Given the description of an element on the screen output the (x, y) to click on. 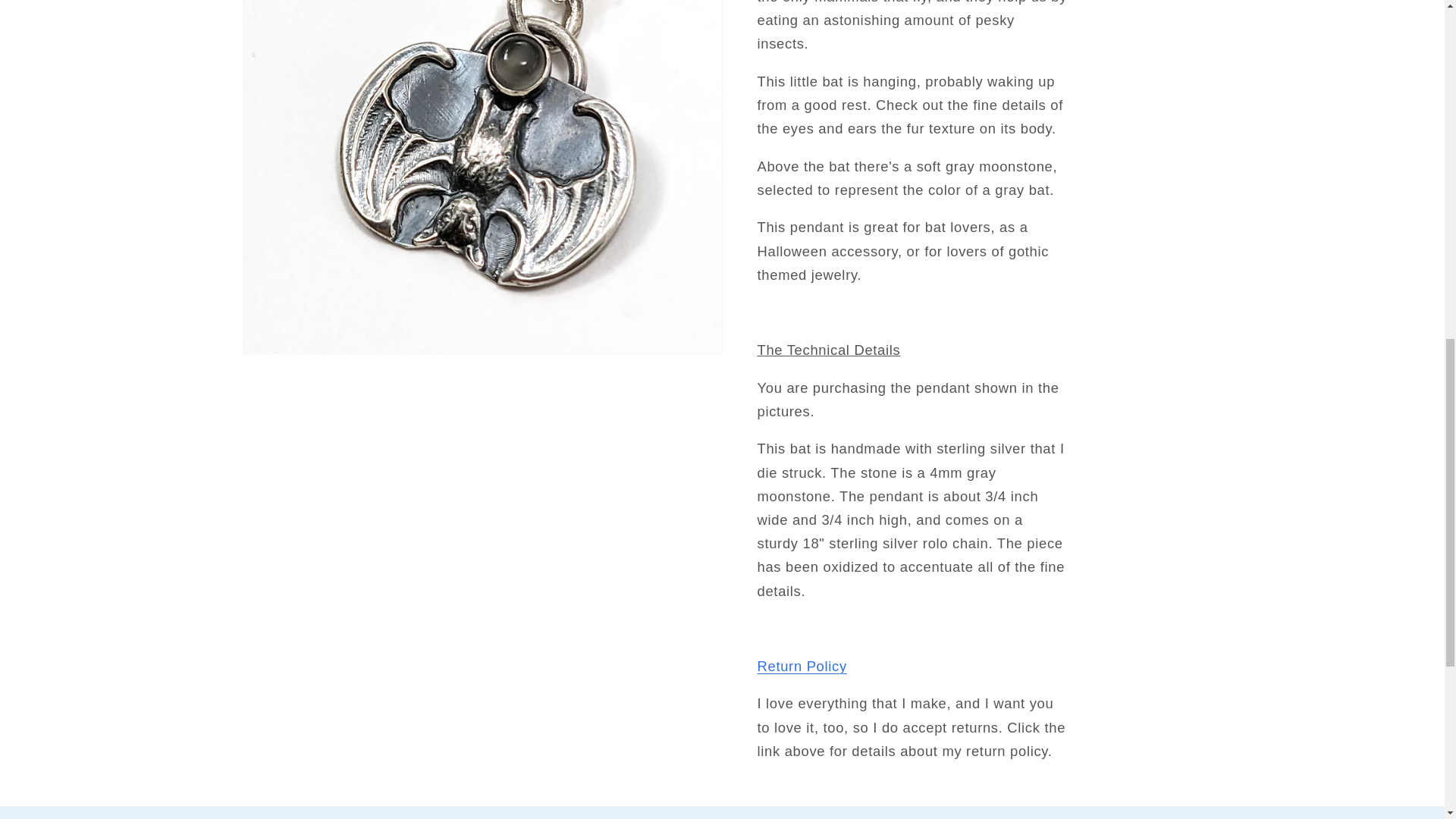
Return and Refund Policy (801, 643)
